Given the description of an element on the screen output the (x, y) to click on. 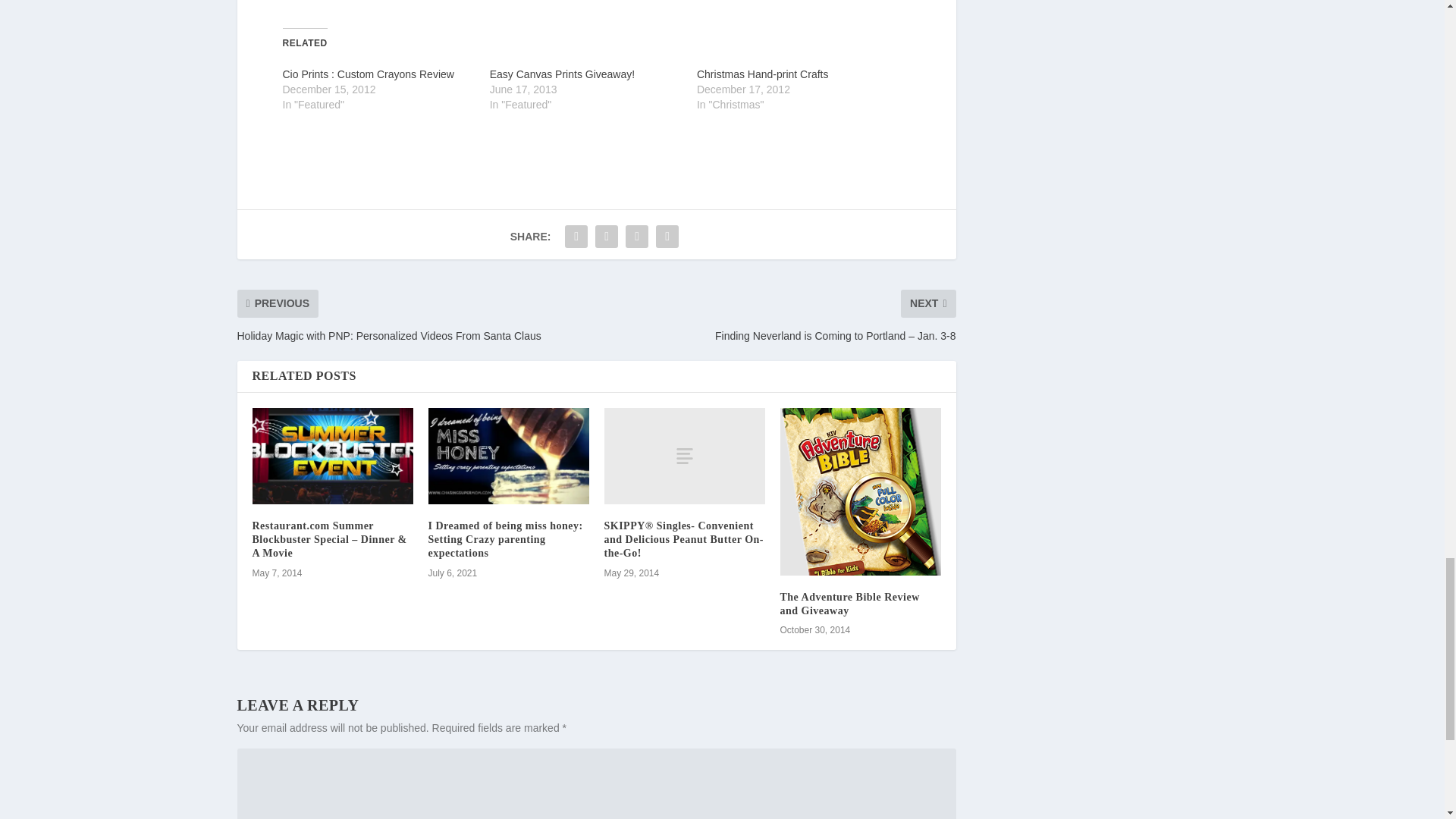
Cio Prints : Custom Crayons Review (367, 73)
Christmas Hand-print Crafts (762, 73)
Easy Canvas Prints Giveaway! (561, 73)
